Given the description of an element on the screen output the (x, y) to click on. 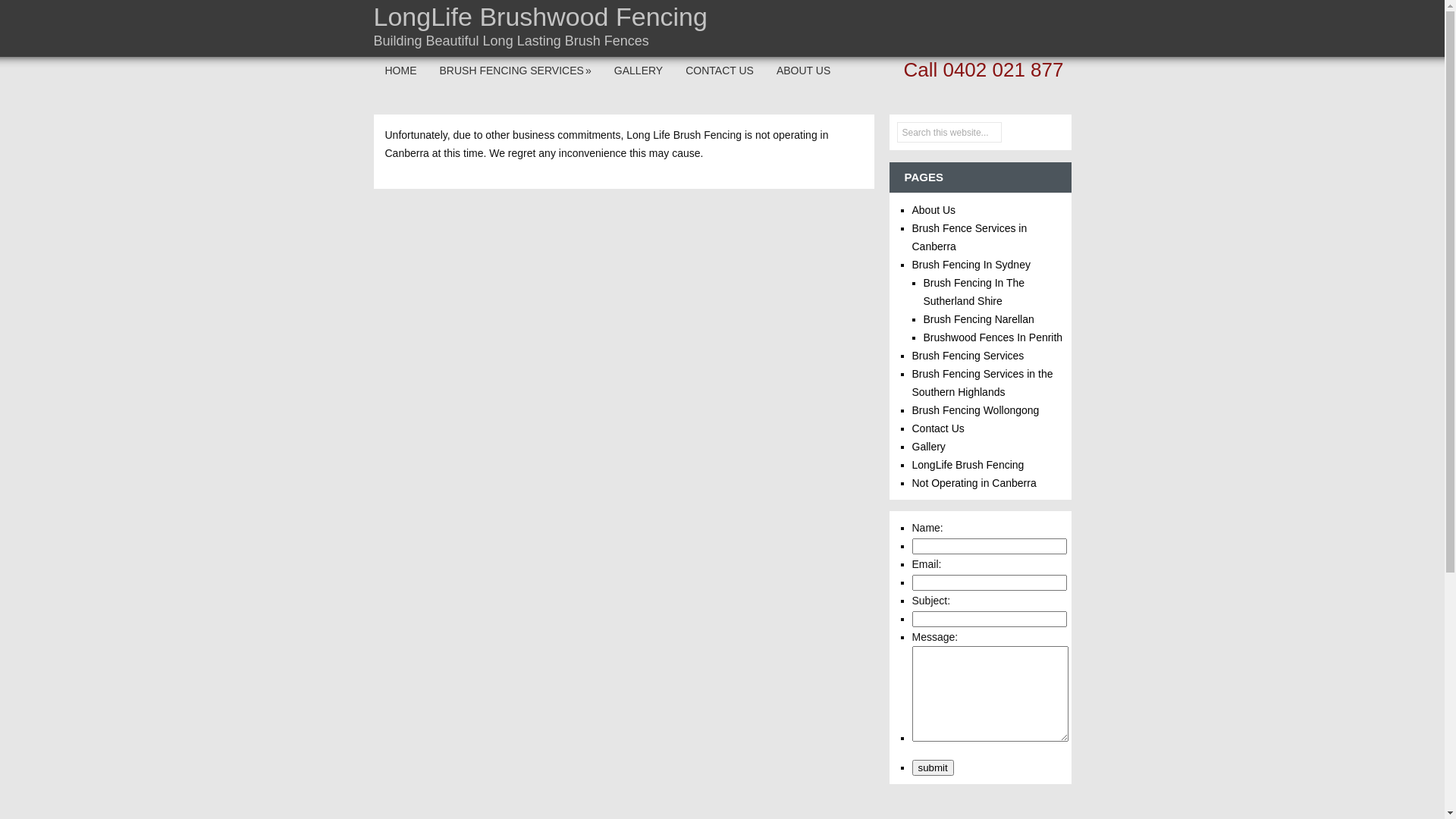
GALLERY Element type: text (638, 70)
Brush Fencing Wollongong Element type: text (974, 410)
submit Element type: text (932, 767)
Brush Fencing Services Element type: text (967, 355)
Brush Fencing Services in the Southern Highlands Element type: text (981, 382)
Brush Fencing In Sydney Element type: text (970, 264)
Brushwood Fences In Penrith Element type: text (993, 337)
Brush Fencing Narellan Element type: text (978, 319)
Brush Fence Services in Canberra Element type: text (968, 237)
LongLife Brush Fencing Element type: text (967, 464)
HOME Element type: text (400, 70)
ABOUT US Element type: text (803, 70)
Contact Us Element type: text (937, 428)
About Us Element type: text (933, 209)
CONTACT US Element type: text (719, 70)
Gallery Element type: text (927, 446)
Brush Fencing In The Sutherland Shire Element type: text (974, 291)
LongLife Brushwood Fencing Element type: text (539, 16)
Not Operating in Canberra Element type: text (973, 482)
